Given the description of an element on the screen output the (x, y) to click on. 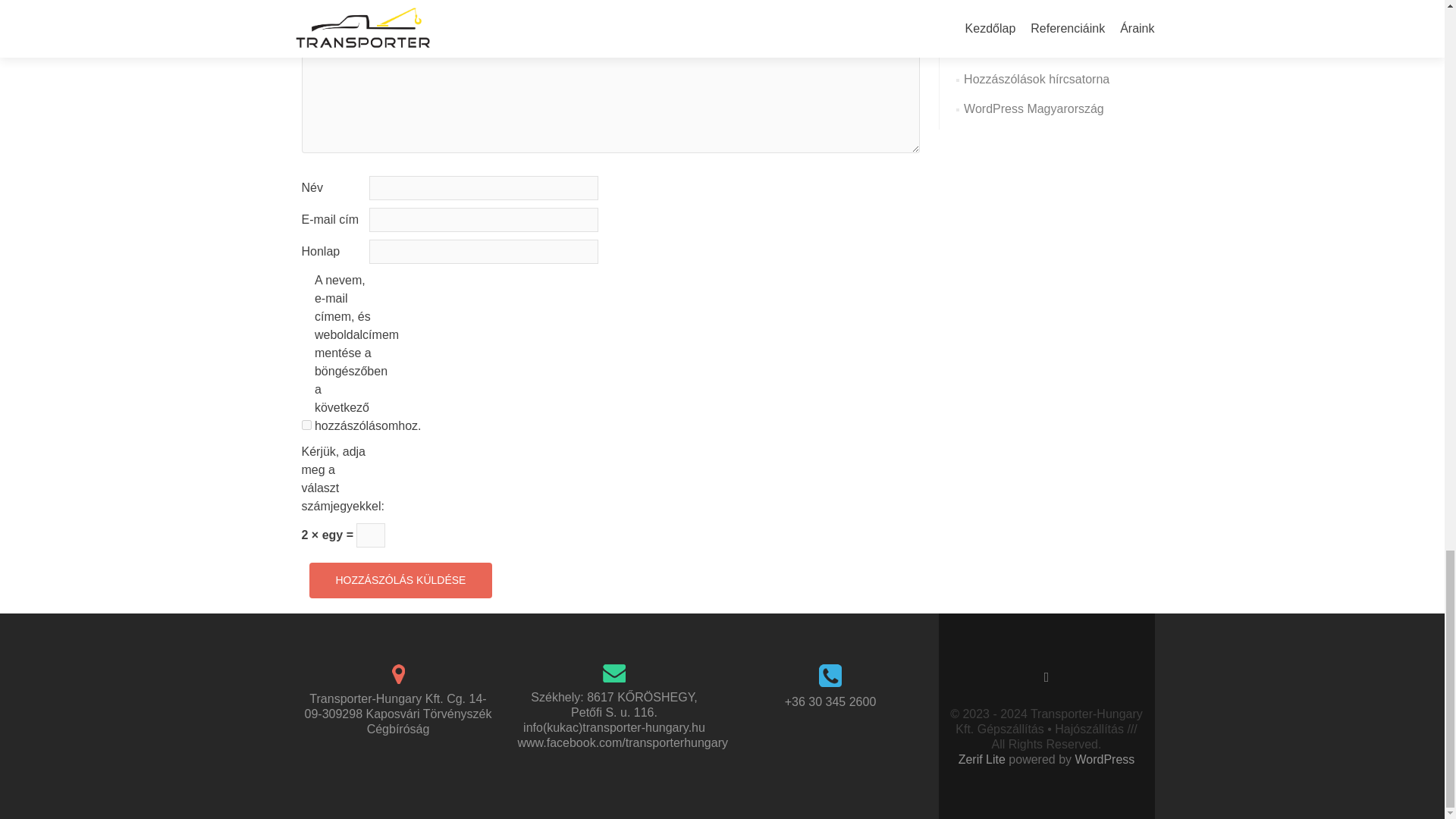
yes (306, 424)
